Given the description of an element on the screen output the (x, y) to click on. 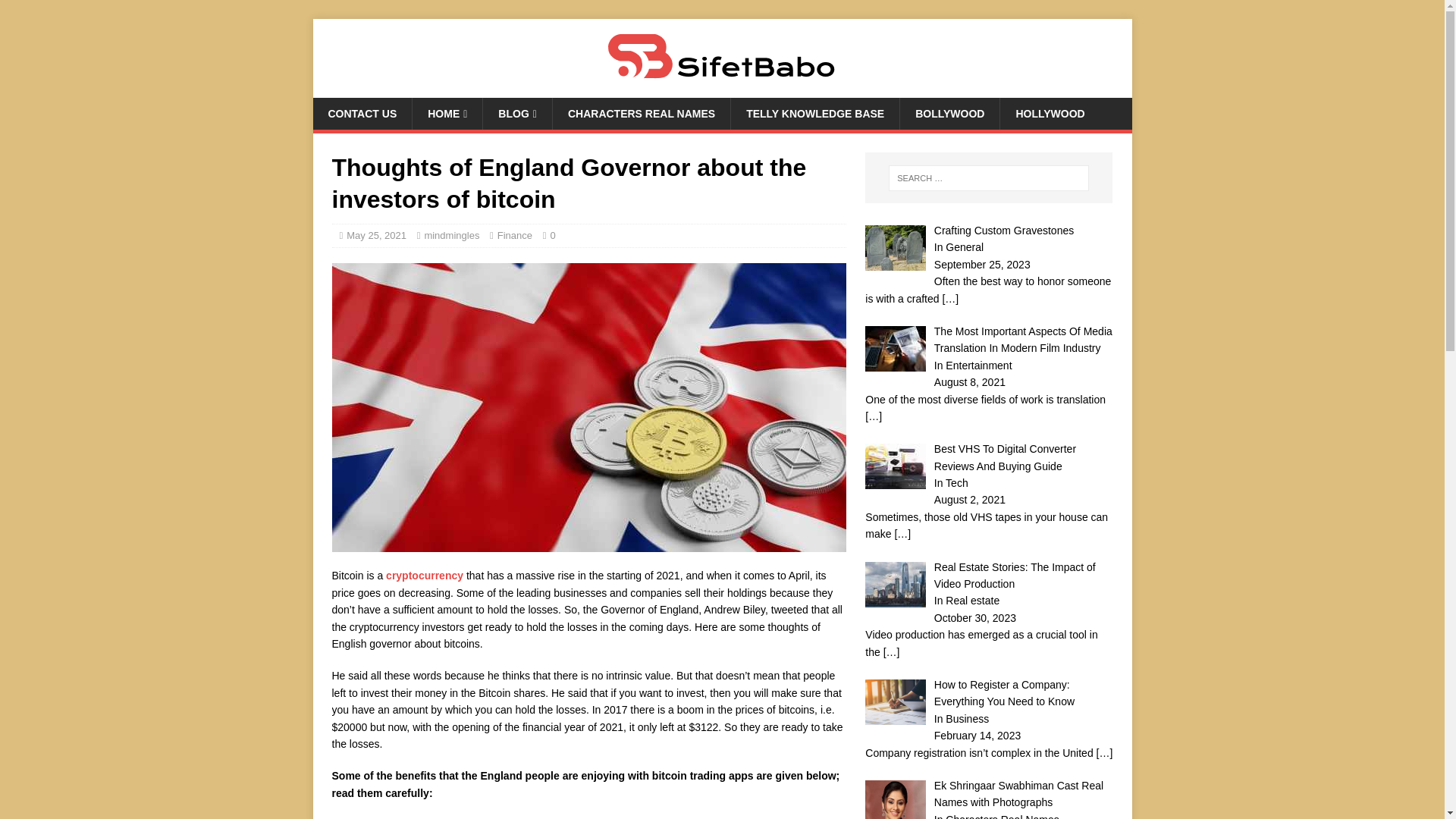
BLOG (516, 113)
CONTACT US (362, 113)
HOME (446, 113)
